Given the description of an element on the screen output the (x, y) to click on. 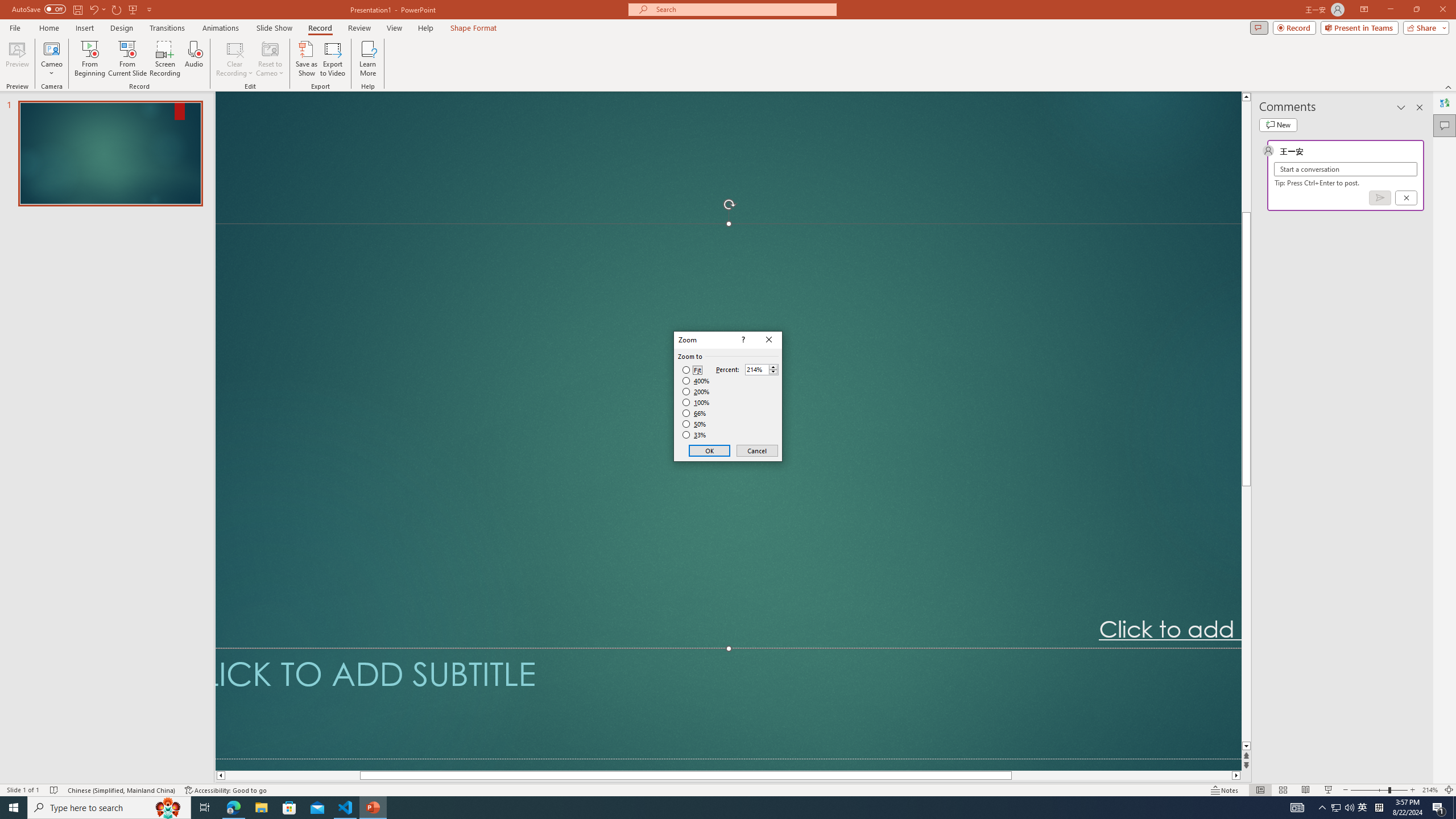
Screen Recording (165, 58)
Export to Video (332, 58)
Percent (761, 369)
Fit (691, 370)
Action Center, 1 new notification (1439, 807)
Percent (756, 369)
66% (694, 412)
